Given the description of an element on the screen output the (x, y) to click on. 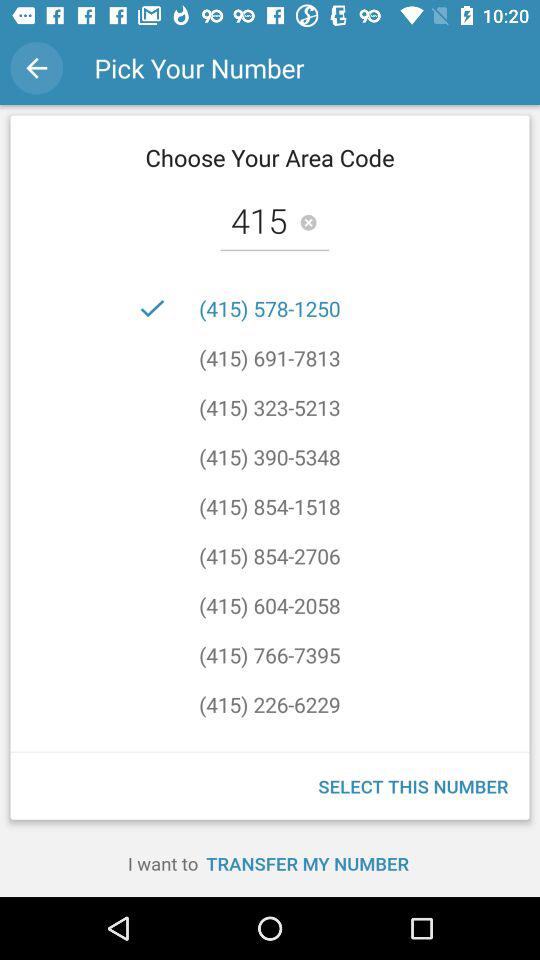
click the item above the (415) 390-5348 icon (269, 407)
